Given the description of an element on the screen output the (x, y) to click on. 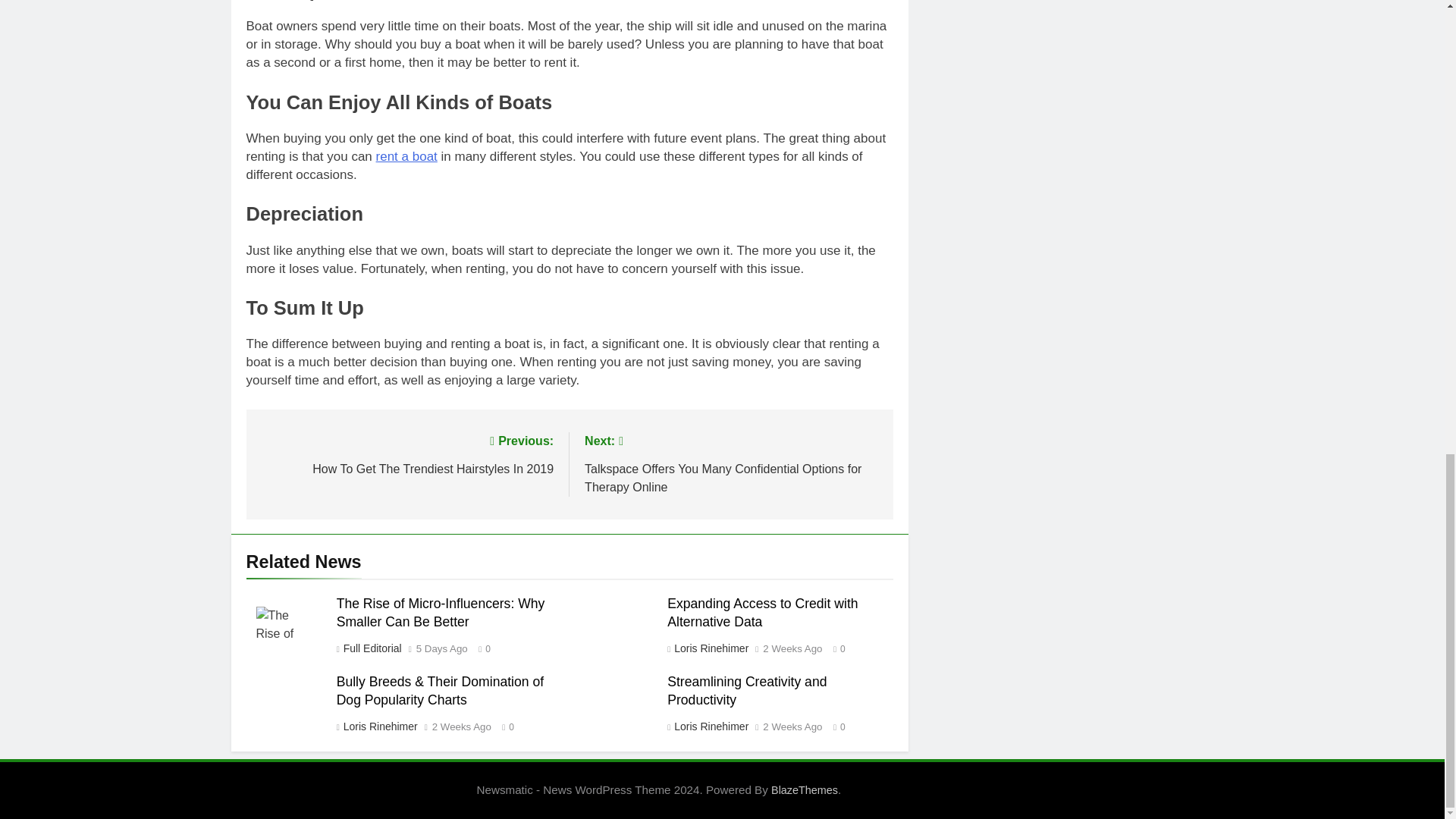
rent a boat (406, 453)
